Given the description of an element on the screen output the (x, y) to click on. 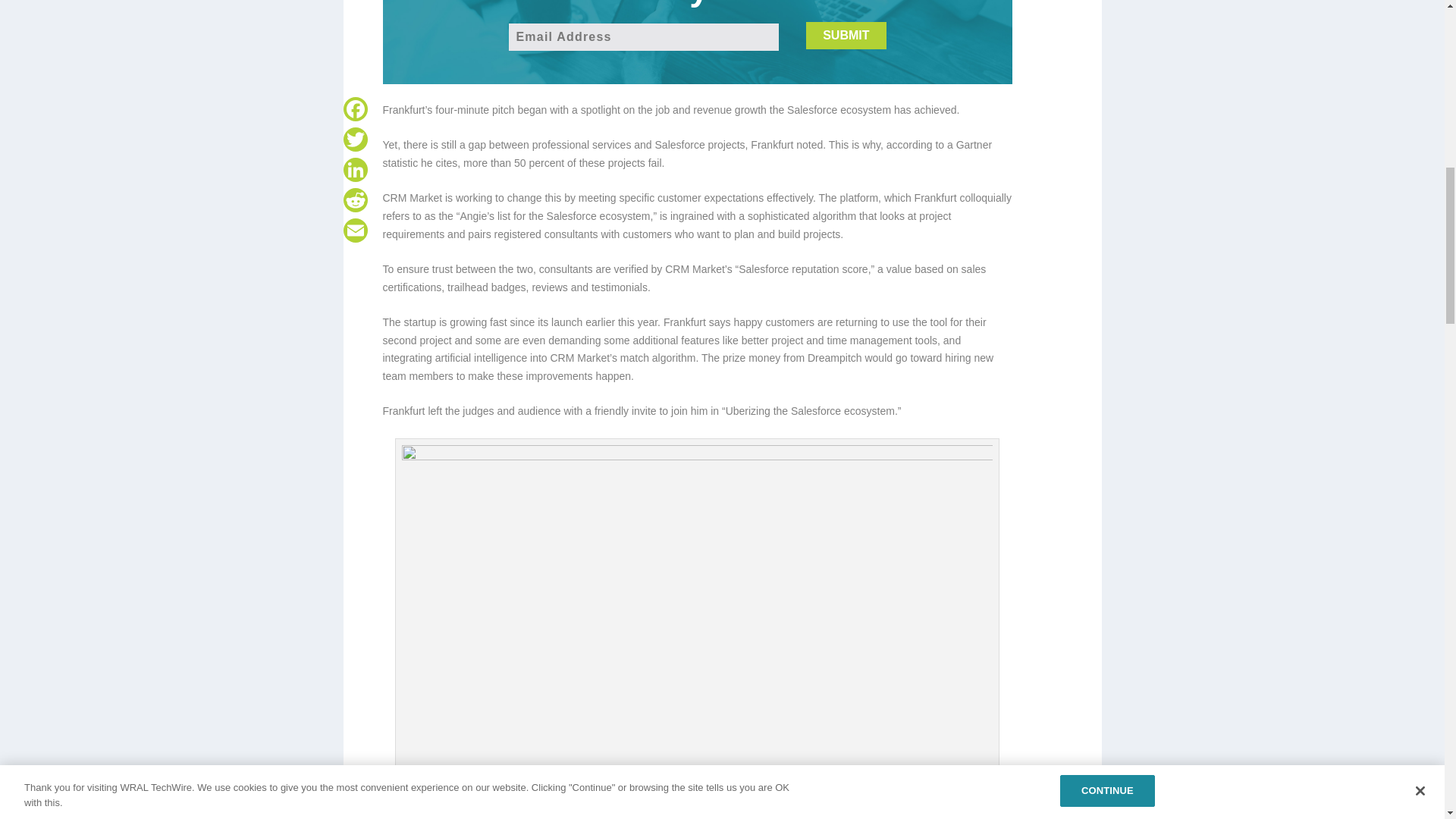
SUBMIT (845, 35)
